Given the description of an element on the screen output the (x, y) to click on. 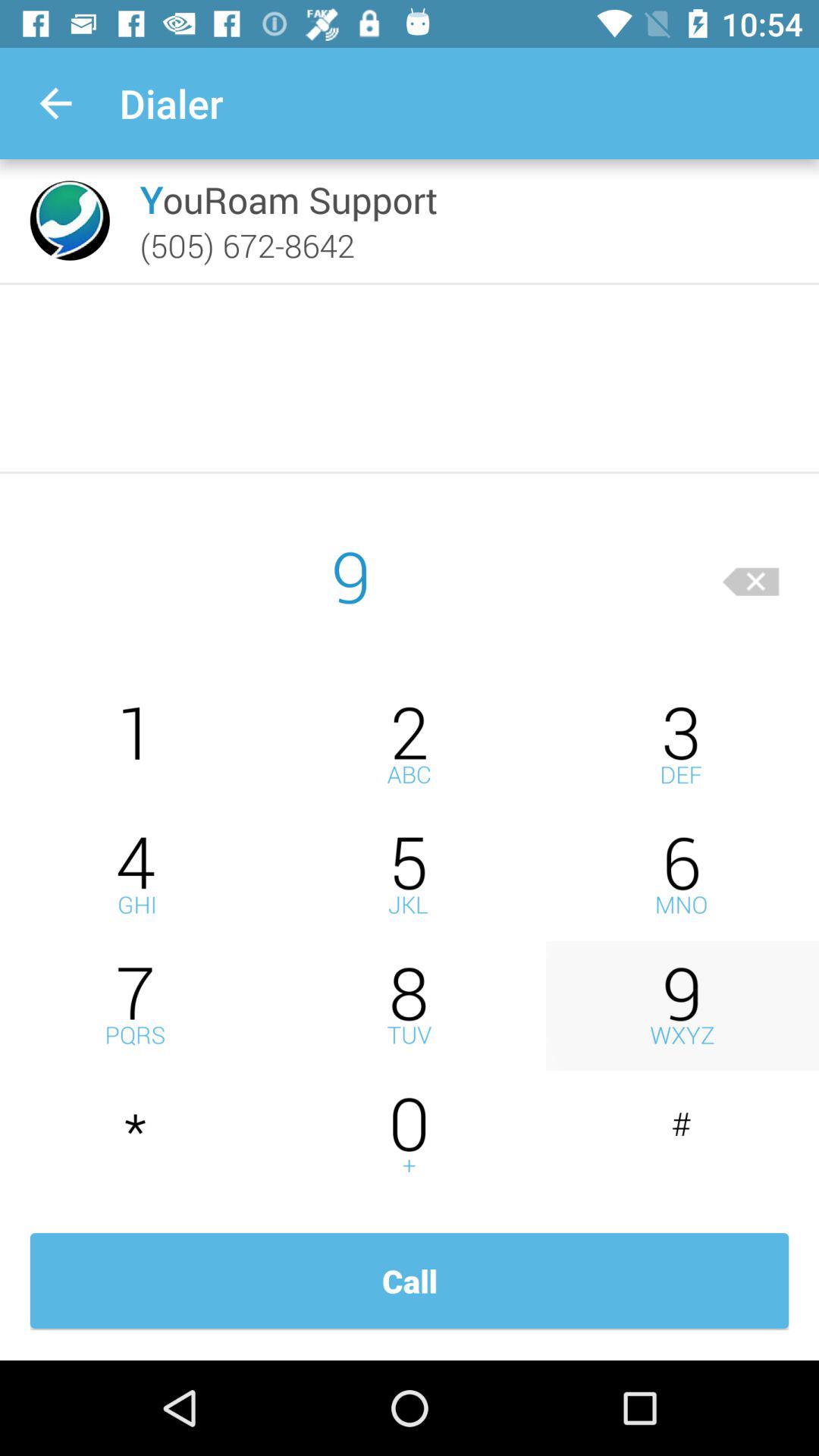
click the number 4 (136, 875)
